Given the description of an element on the screen output the (x, y) to click on. 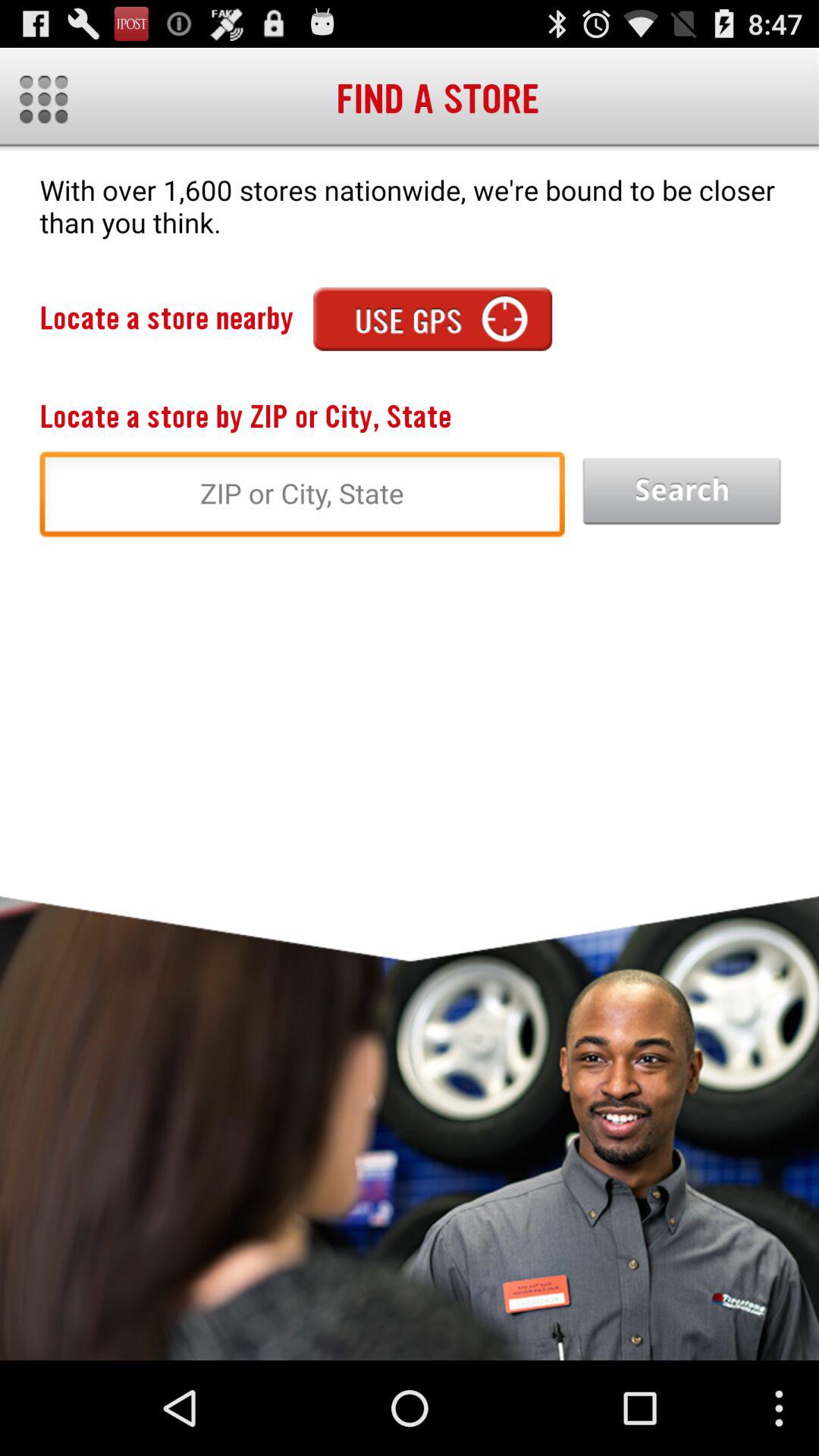
enter zip or city state (301, 498)
